Given the description of an element on the screen output the (x, y) to click on. 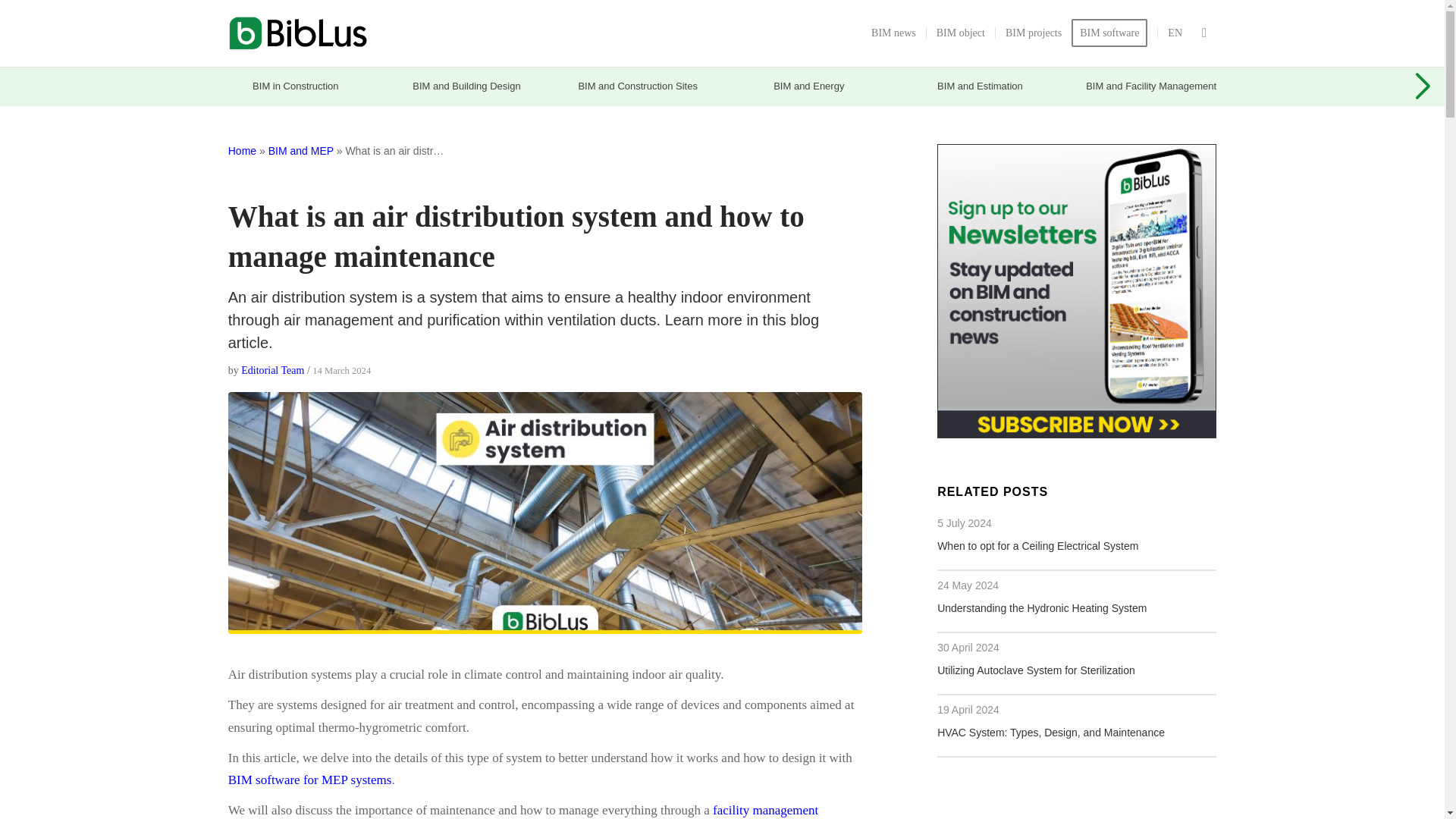
BIM news (893, 33)
BIM object (960, 33)
BIM and Construction Sites (636, 85)
BIM projects (1032, 33)
BIM and MEP (300, 150)
BIM and Energy (808, 85)
BIM and Estimation (979, 85)
Editorial Team (272, 369)
Home (242, 150)
BIM and Facility Management (1149, 85)
